Given the description of an element on the screen output the (x, y) to click on. 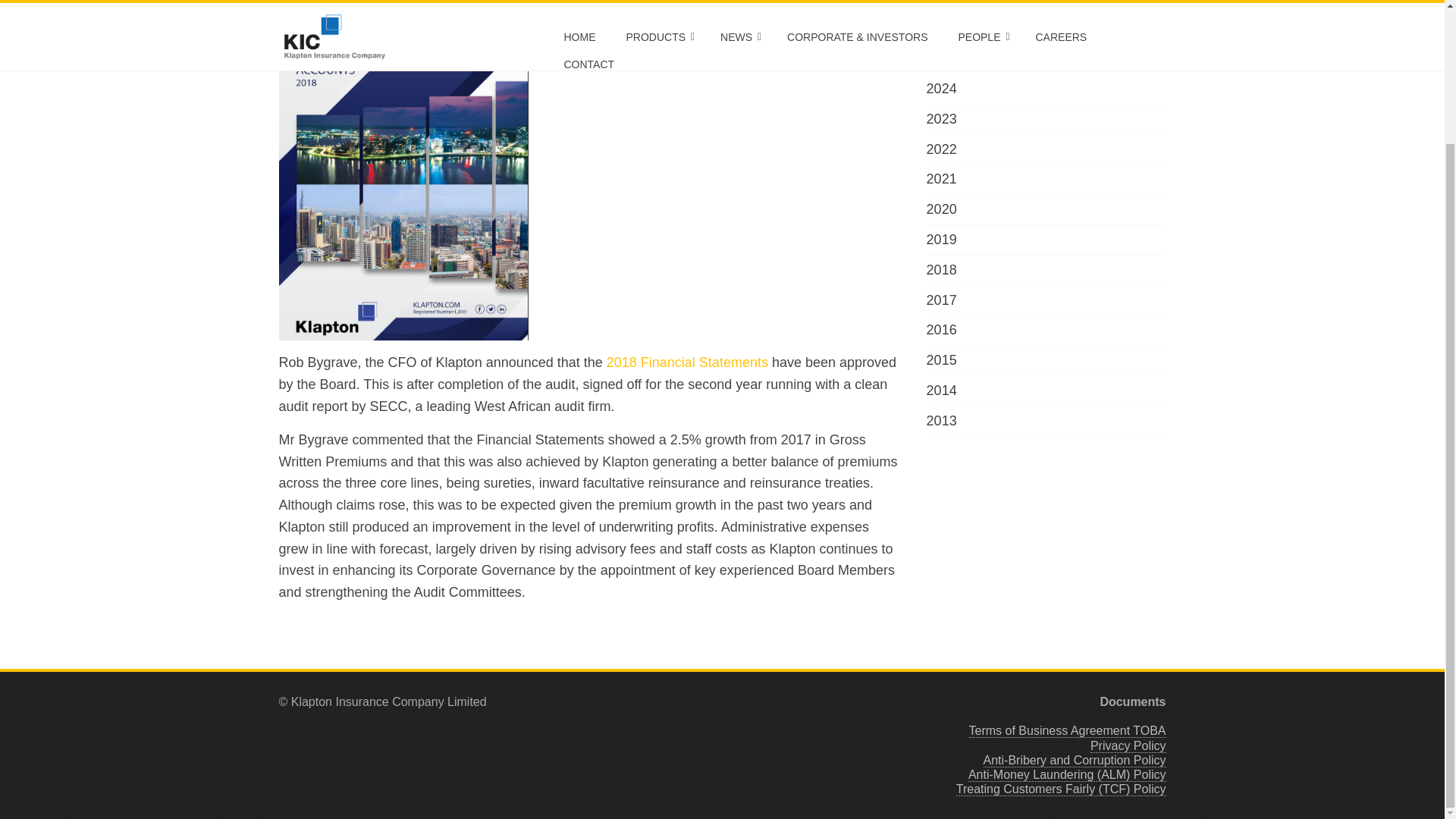
2015 (941, 359)
2018 (941, 269)
2024 (941, 88)
2019 (941, 239)
2023 (941, 118)
2014 (941, 390)
2013 (941, 420)
2021 (941, 178)
2020 (941, 209)
2018 Financial Statements (687, 362)
2016 (941, 329)
2022 (941, 149)
2017 (941, 299)
